Given the description of an element on the screen output the (x, y) to click on. 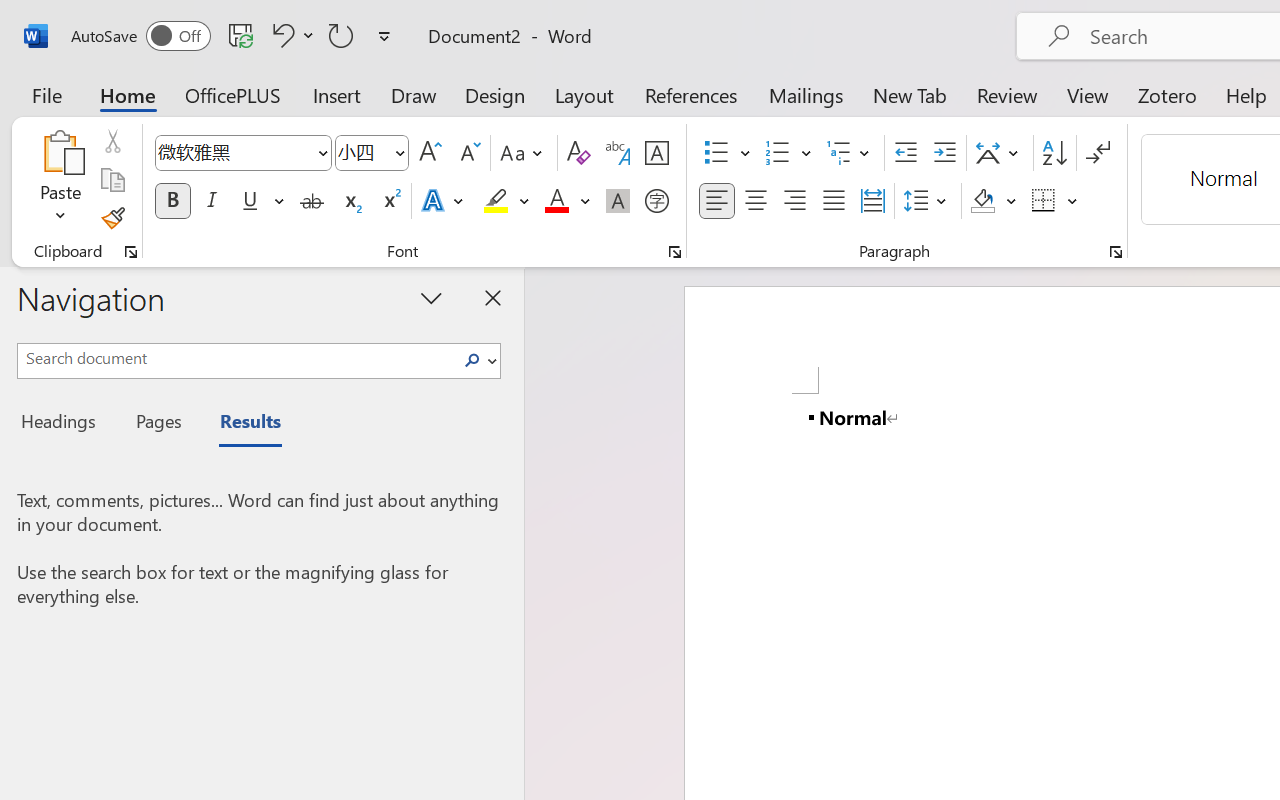
Draw (413, 94)
Shrink Font (468, 153)
Distributed (872, 201)
Insert (337, 94)
Zotero (1166, 94)
Font (234, 152)
References (690, 94)
New Tab (909, 94)
File Tab (46, 94)
Borders (1044, 201)
Center (756, 201)
Show/Hide Editing Marks (1098, 153)
Quick Access Toolbar (233, 36)
Borders (1055, 201)
Search (471, 360)
